Given the description of an element on the screen output the (x, y) to click on. 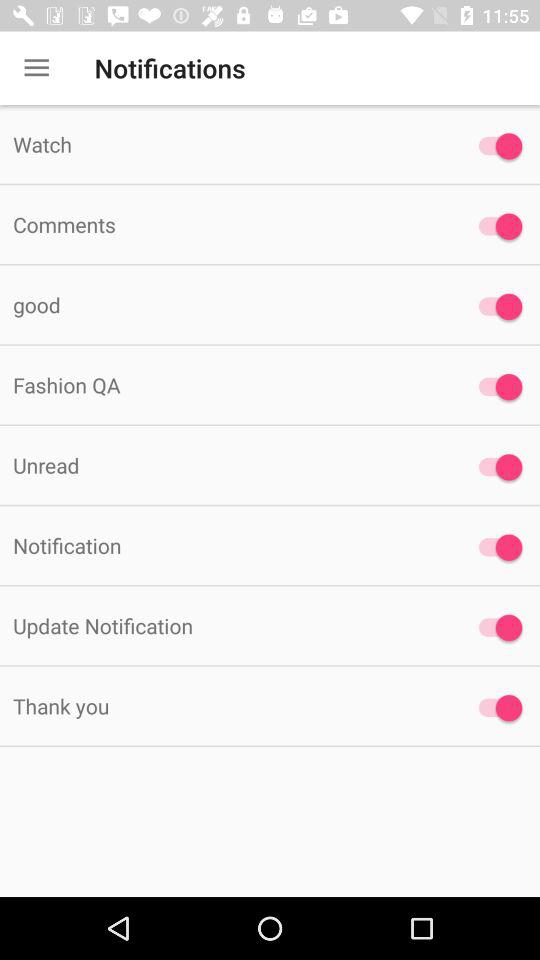
select the icon above watch icon (36, 68)
